Given the description of an element on the screen output the (x, y) to click on. 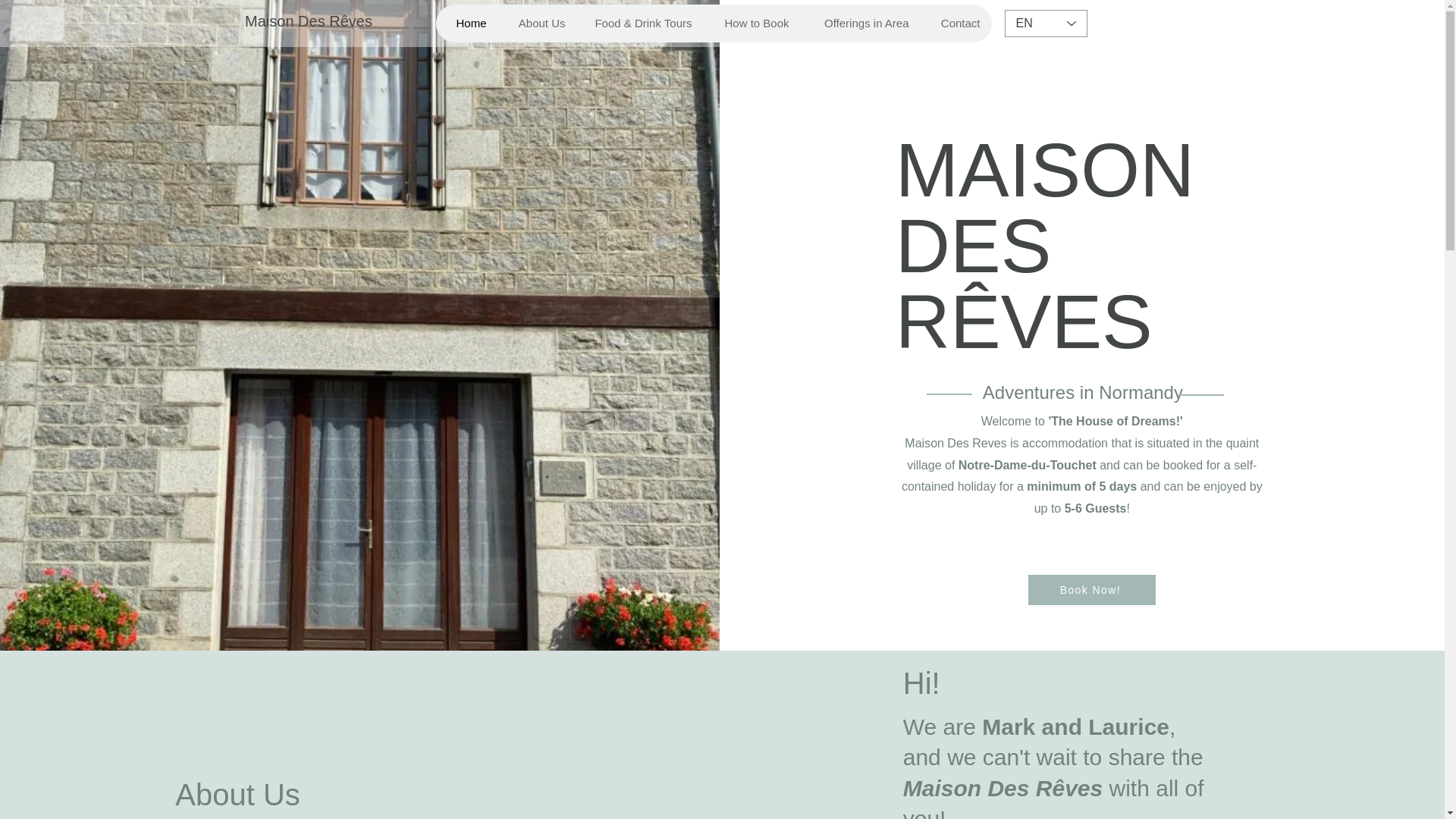
Offerings in Area (860, 23)
Home (466, 23)
How to Book (751, 23)
Contact (955, 23)
Book Now! (1091, 589)
About Us (536, 23)
